Given the description of an element on the screen output the (x, y) to click on. 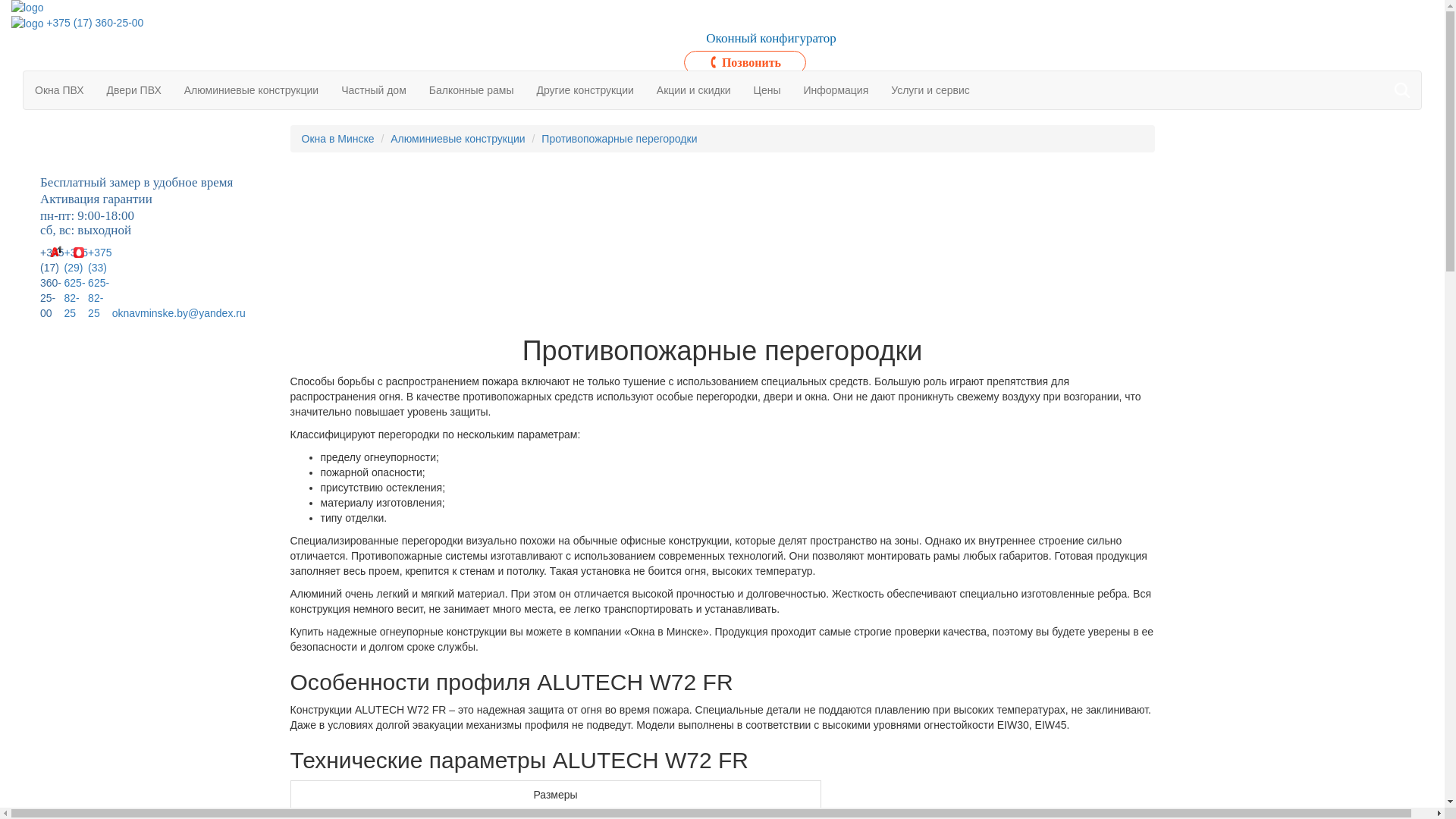
oknavminske.by@yandex.ru Element type: text (178, 312)
+375 (29) 625-82-25 Element type: text (76, 282)
+375 (17) 360-25-00 Element type: text (94, 22)
+375 (33) 625-82-25 Element type: text (99, 282)
+375 (17) 360-25-00 Element type: text (52, 282)
